Given the description of an element on the screen output the (x, y) to click on. 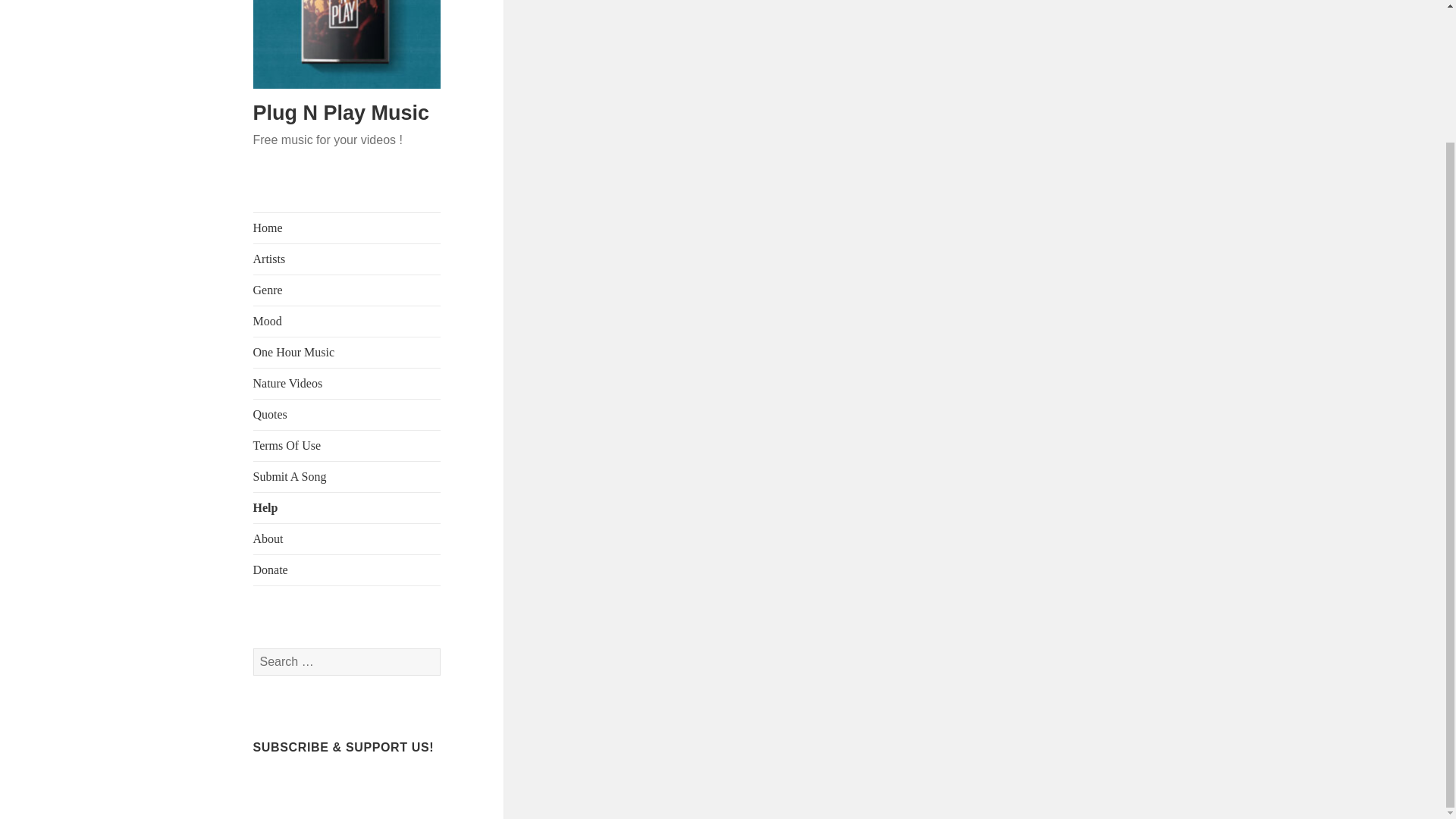
Artists (347, 259)
Genre (347, 290)
Home (347, 227)
Plug N Play Music (341, 112)
